Given the description of an element on the screen output the (x, y) to click on. 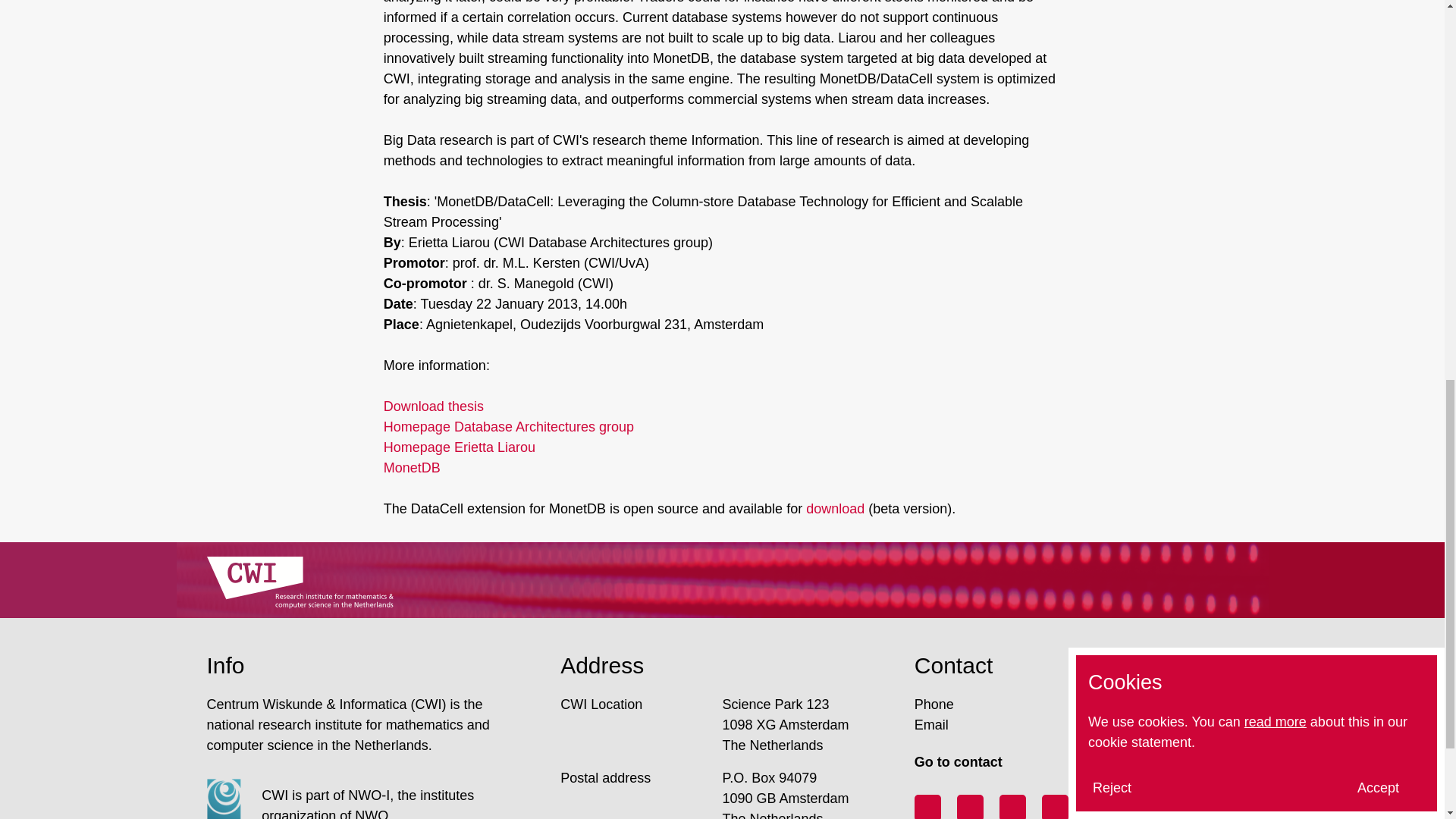
CWI Instagram (1055, 806)
CWI Youtube (1012, 806)
CWI LinkedIn (970, 806)
